Given the description of an element on the screen output the (x, y) to click on. 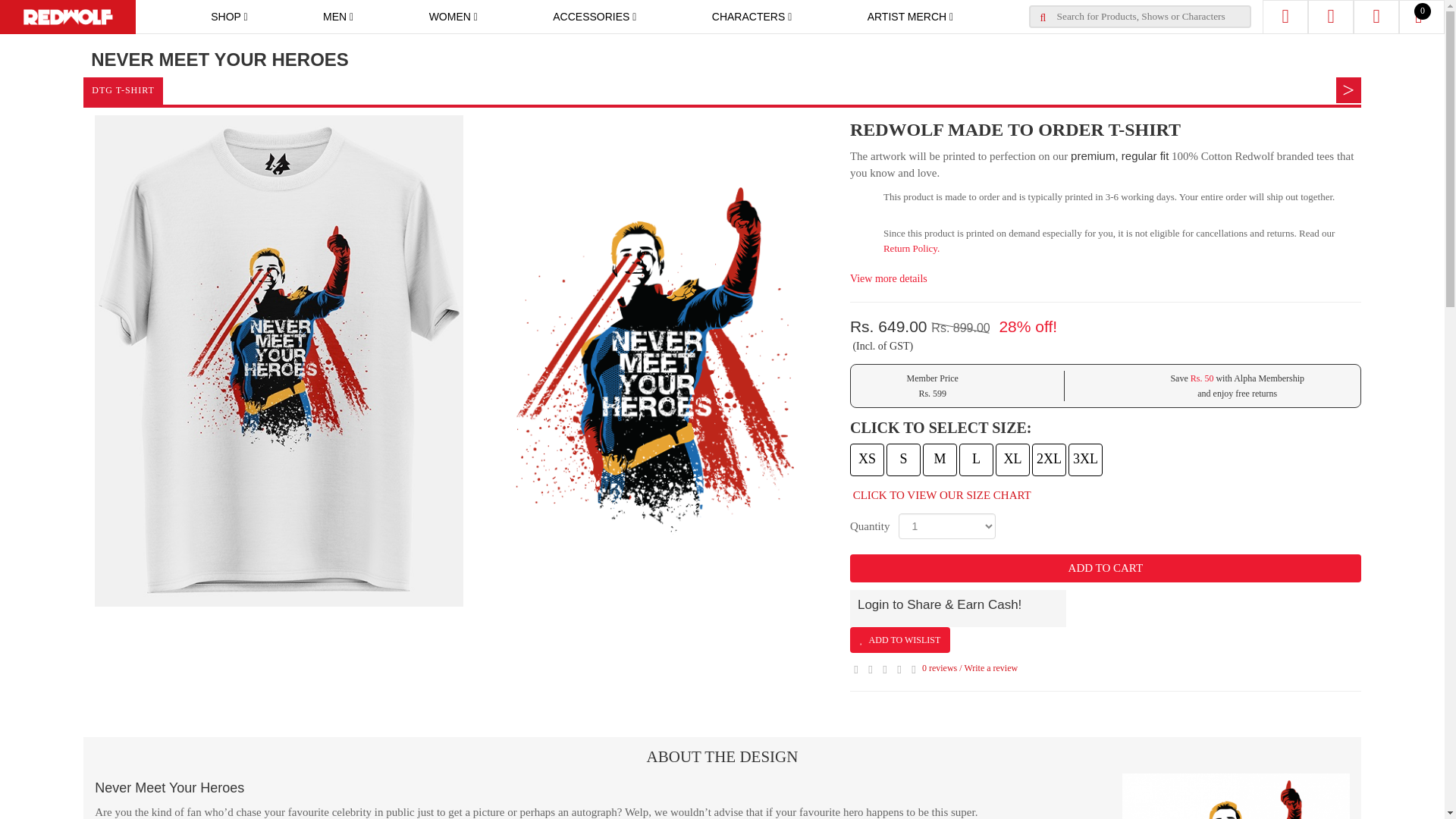
451667 (981, 458)
451669 (1046, 458)
451668 (1013, 458)
451665 (908, 458)
Write a review (990, 667)
451664 (868, 458)
451666 (943, 458)
451670 (1083, 458)
Add to Wish List (900, 639)
